Given the description of an element on the screen output the (x, y) to click on. 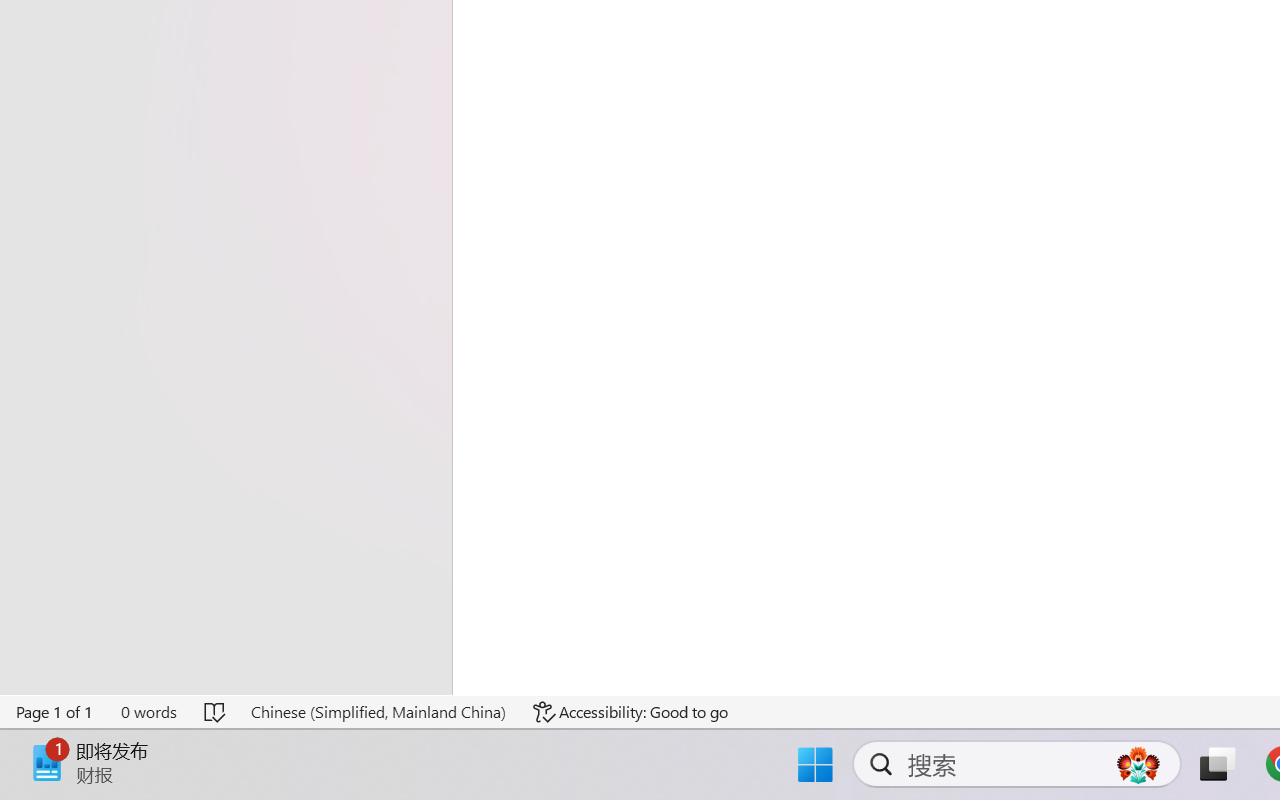
Language Chinese (Simplified, Mainland China) (378, 712)
